Given the description of an element on the screen output the (x, y) to click on. 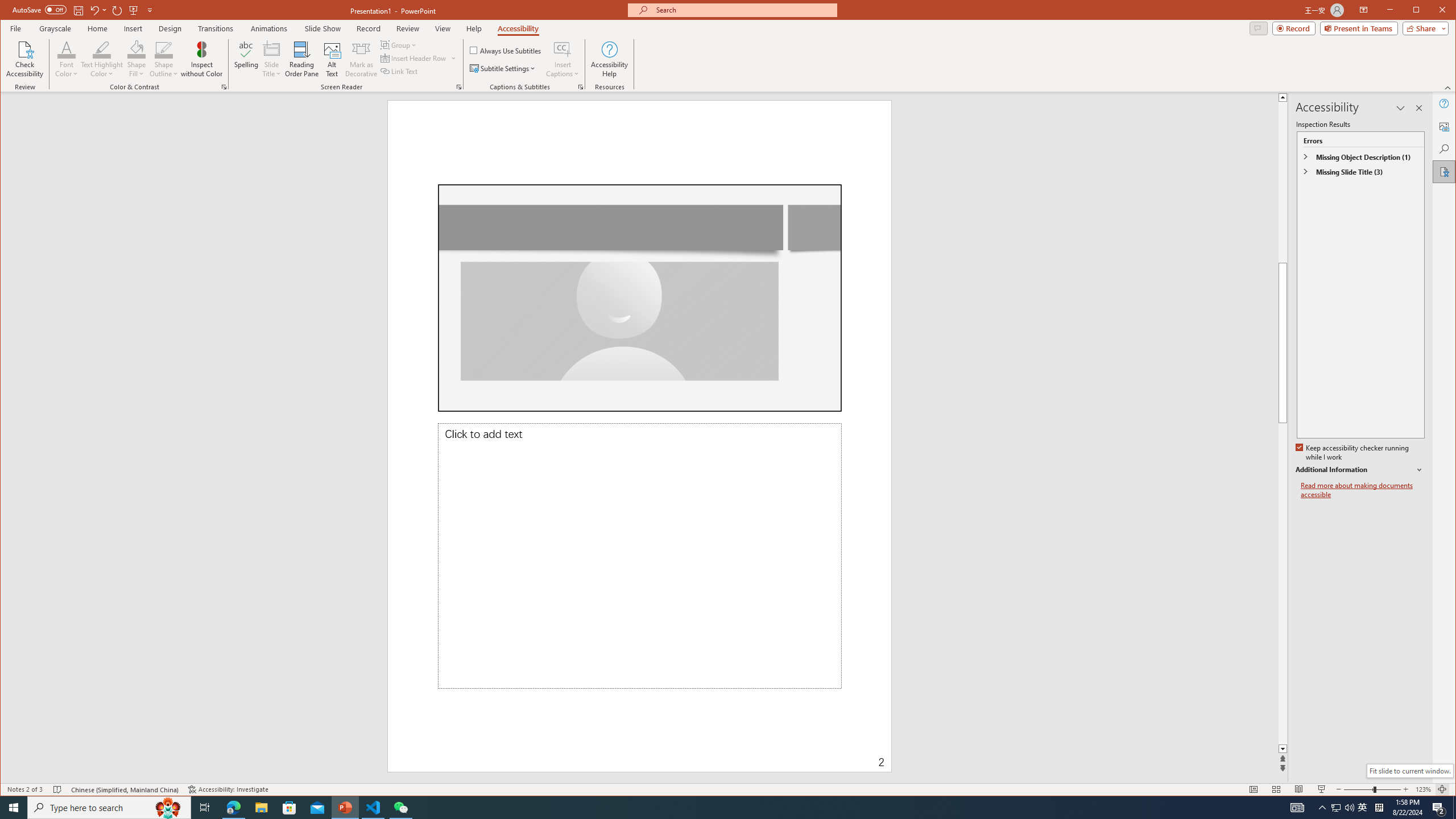
Always Use Subtitles (505, 49)
Link Text (399, 70)
